Given the description of an element on the screen output the (x, y) to click on. 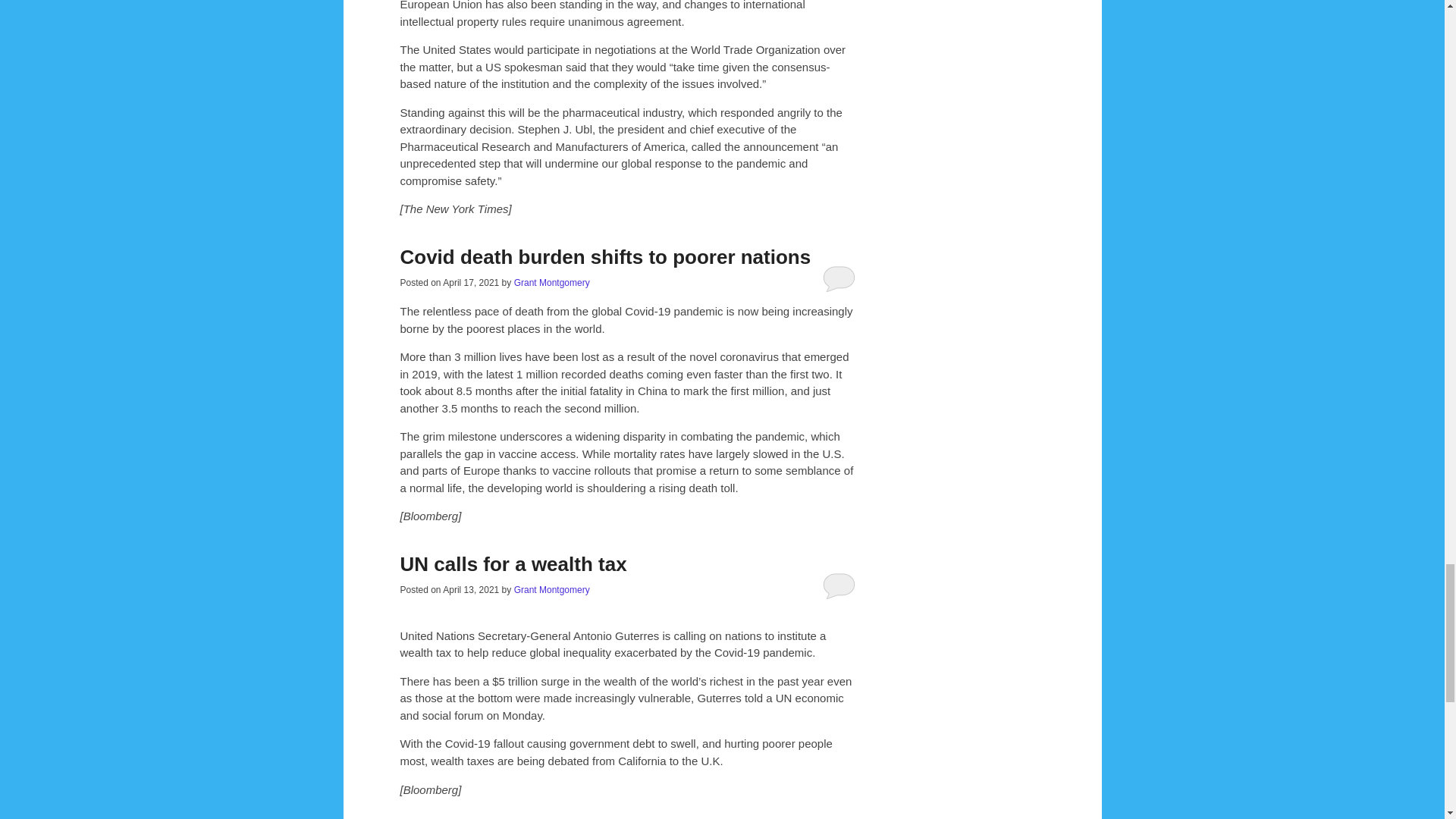
Posts by Grant Montgomery (551, 589)
Covid death burden shifts to poorer nations (605, 256)
Posts by Grant Montgomery (551, 282)
Grant Montgomery (551, 282)
UN calls for a wealth tax (513, 563)
Grant Montgomery (551, 589)
Covid death burden shifts to poorer nations (605, 256)
UN calls for a wealth tax (513, 563)
